Given the description of an element on the screen output the (x, y) to click on. 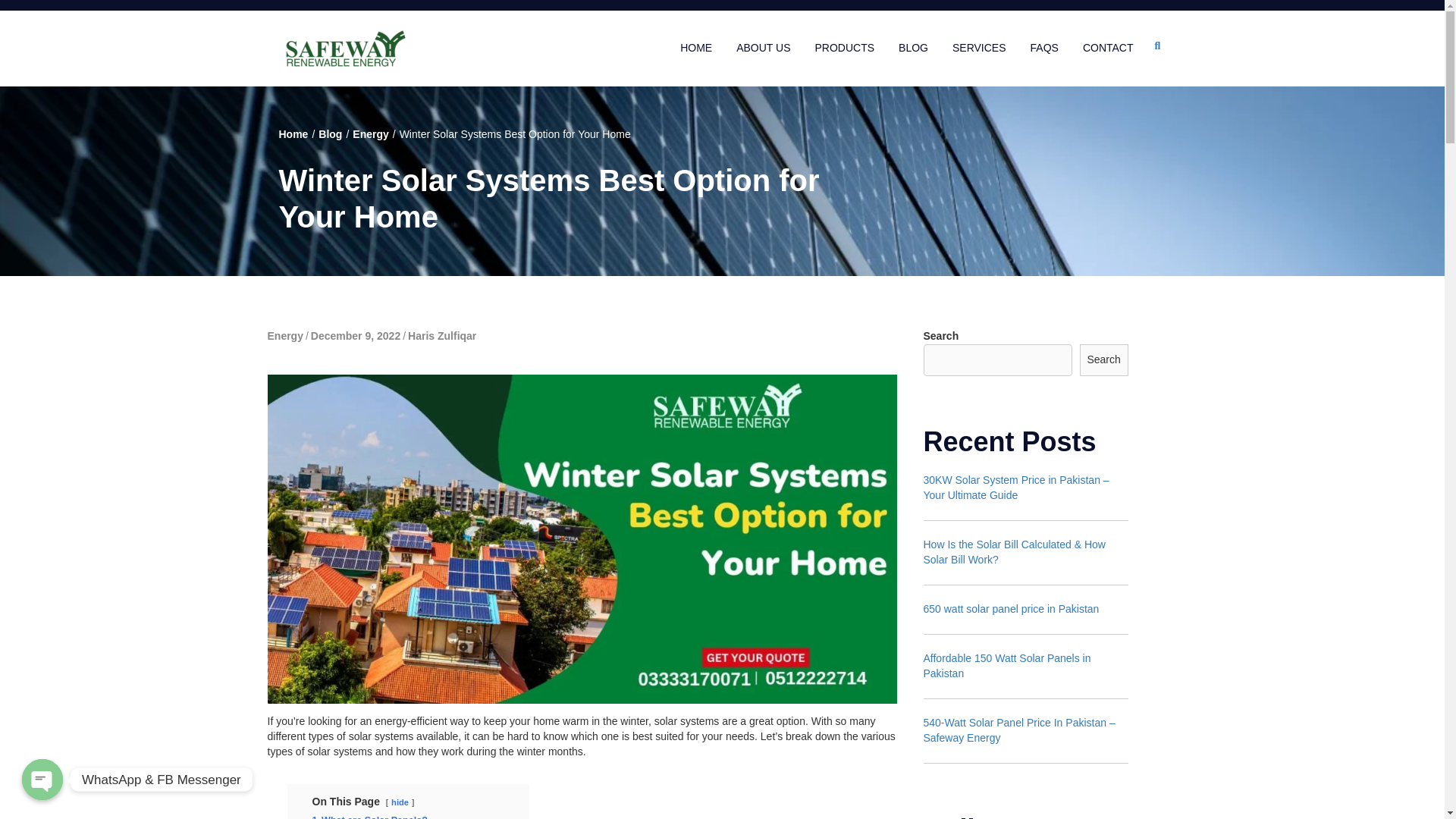
1 What are Solar Panels? (370, 816)
SERVICES (979, 48)
BLOG (913, 48)
Home (293, 133)
ABOUT US (763, 48)
Energy (370, 133)
Energy (284, 336)
FAQS (1044, 48)
hide (400, 801)
December 9, 2022 (355, 336)
HOME (695, 48)
Haris Zulfiqar (441, 336)
PRODUCTS (844, 48)
CONTACT (1108, 48)
Blog (330, 133)
